Given the description of an element on the screen output the (x, y) to click on. 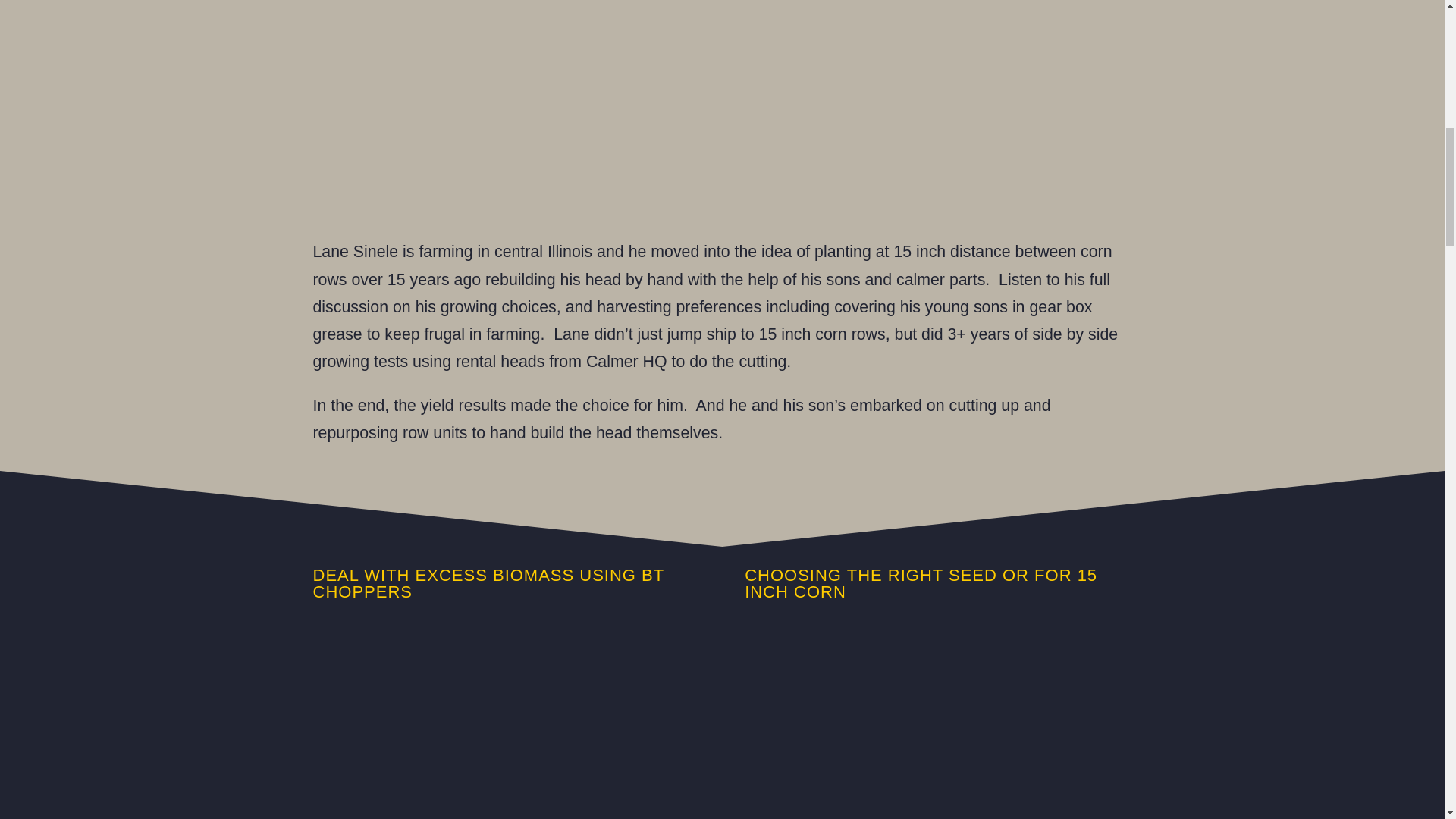
Choosing the Right Seed for Narrow Row Corn (937, 724)
15-Inch Corn Head with Calmer BT Chopper Stalk Rolls (505, 724)
